Given the description of an element on the screen output the (x, y) to click on. 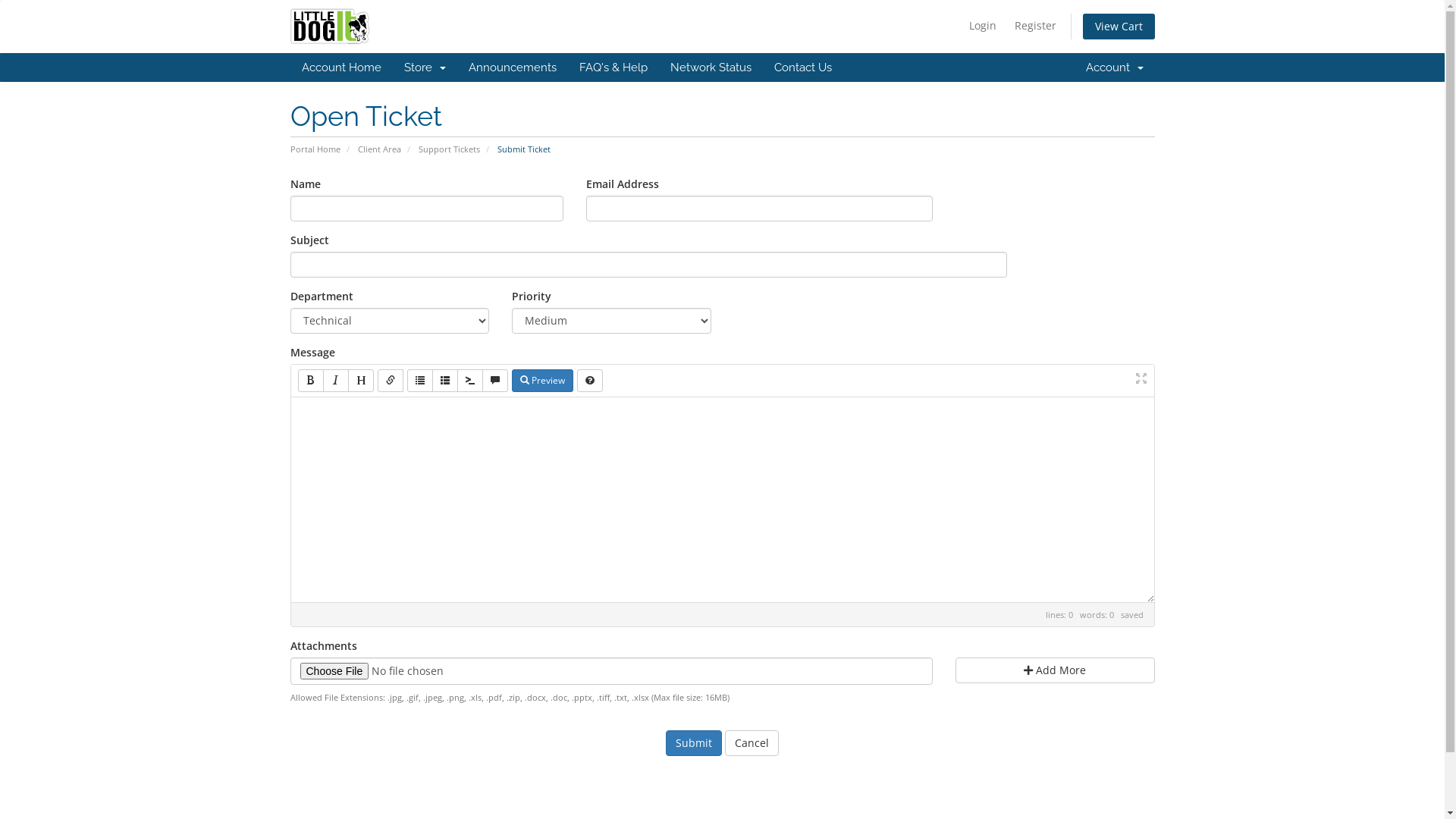
Ordered List Element type: hover (445, 380)
Support Tickets Element type: text (449, 148)
Heading Element type: hover (360, 380)
Submit Element type: text (693, 743)
Client Area Element type: text (379, 148)
Announcements Element type: text (511, 67)
Preview Element type: text (541, 380)
Account   Element type: text (1113, 67)
FAQ's & Help Element type: text (612, 67)
Contact Us Element type: text (802, 67)
Register Element type: text (1035, 25)
Cancel Element type: text (751, 743)
View Cart Element type: text (1118, 26)
Network Status Element type: text (710, 67)
Code Element type: hover (469, 380)
Login Element type: text (982, 25)
Italic Element type: hover (335, 380)
Add More Element type: text (1054, 670)
Quote Element type: hover (495, 380)
Account Home Element type: text (340, 67)
Bold Element type: hover (310, 380)
Portal Home Element type: text (314, 148)
Help Element type: hover (589, 380)
Store   Element type: text (424, 67)
Unordered List Element type: hover (419, 380)
URL/Link Element type: hover (390, 380)
